Given the description of an element on the screen output the (x, y) to click on. 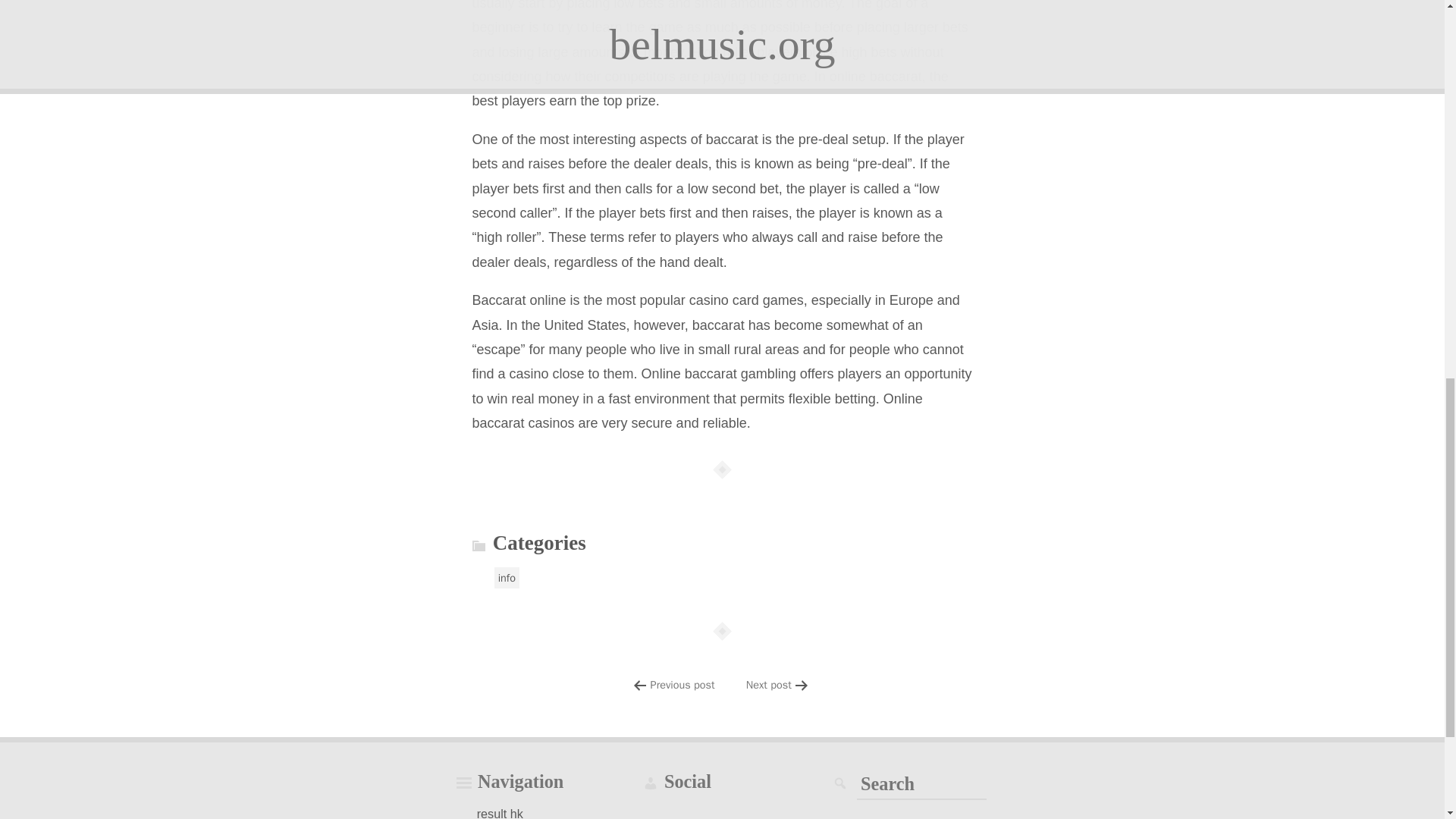
info (507, 577)
Next post (768, 684)
Previous post (682, 684)
